Given the description of an element on the screen output the (x, y) to click on. 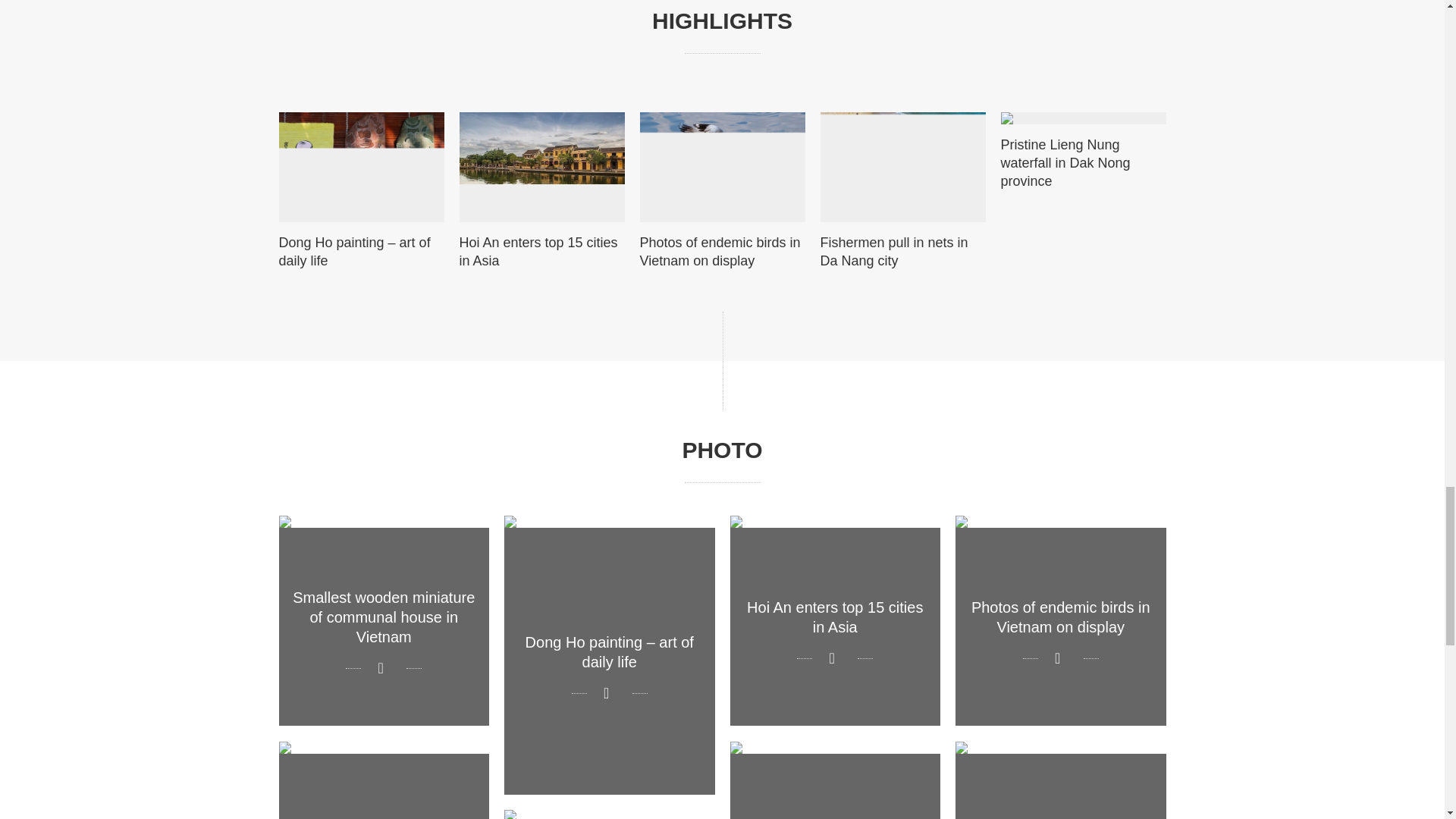
Fishermen pull in nets in Da Nang city (384, 780)
Pristine Lieng Nung waterfall in Dak Nong province (608, 814)
Smallest wooden miniature of communal house in Vietnam (384, 620)
Pristine Lieng Nung waterfall in Dak Nong province (1083, 162)
Photos of endemic birds in Vietnam on display (722, 251)
PHOTO (722, 449)
Hoi An enters top 15 cities in Asia (834, 620)
Bridges over Han river (834, 780)
Hoi An enters top 15 cities in Asia (834, 620)
Fishermen pull in nets in Da Nang city (903, 251)
